Given the description of an element on the screen output the (x, y) to click on. 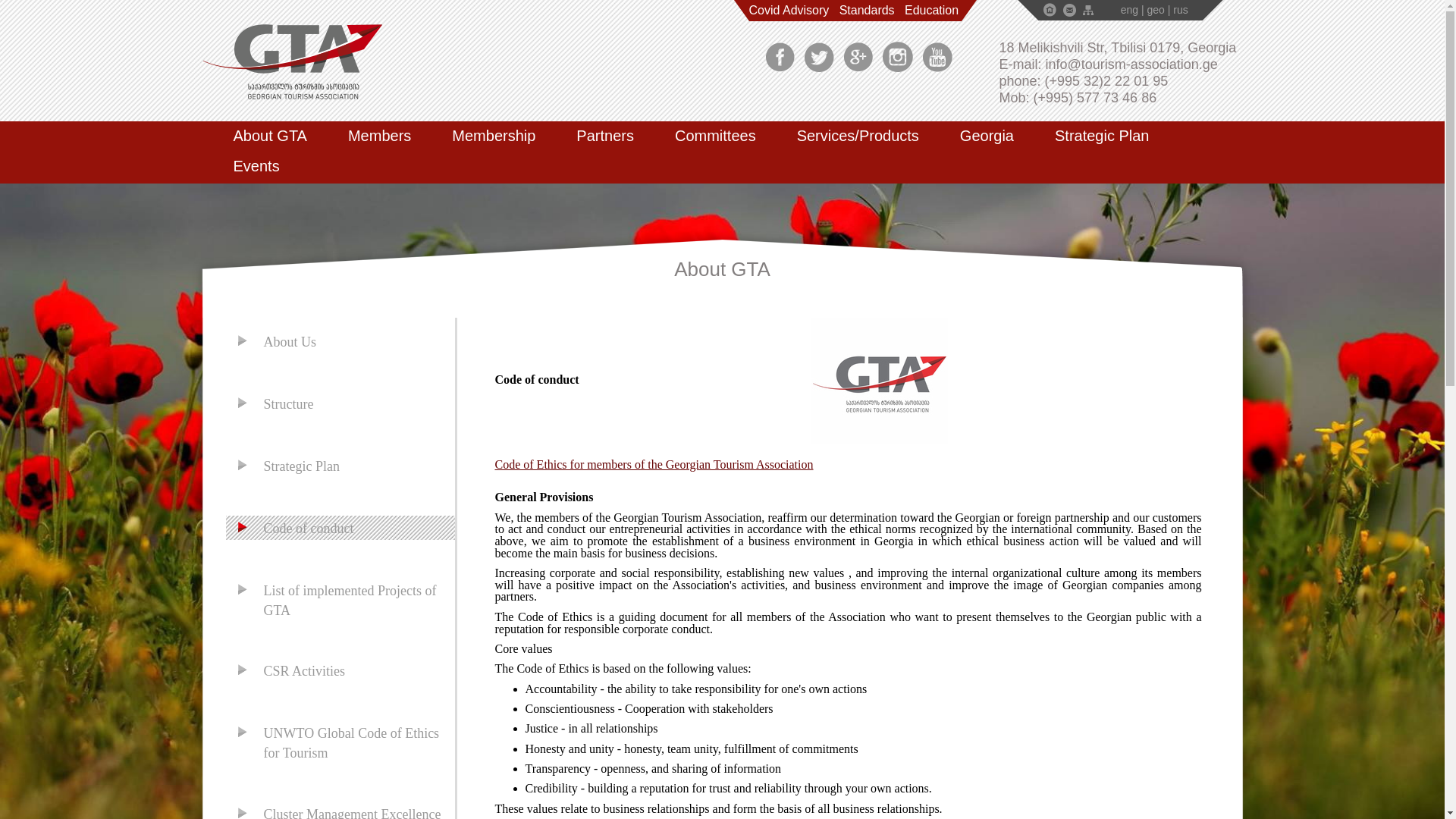
Covid Advisory (789, 15)
Contact (1068, 10)
Education (933, 15)
geo (1155, 9)
Facebook (779, 57)
Standards (868, 15)
Instagram (897, 56)
Home (1050, 9)
YouTube (936, 57)
Site map (1088, 9)
eng (1129, 9)
Twitter (817, 57)
rus (1180, 9)
